Given the description of an element on the screen output the (x, y) to click on. 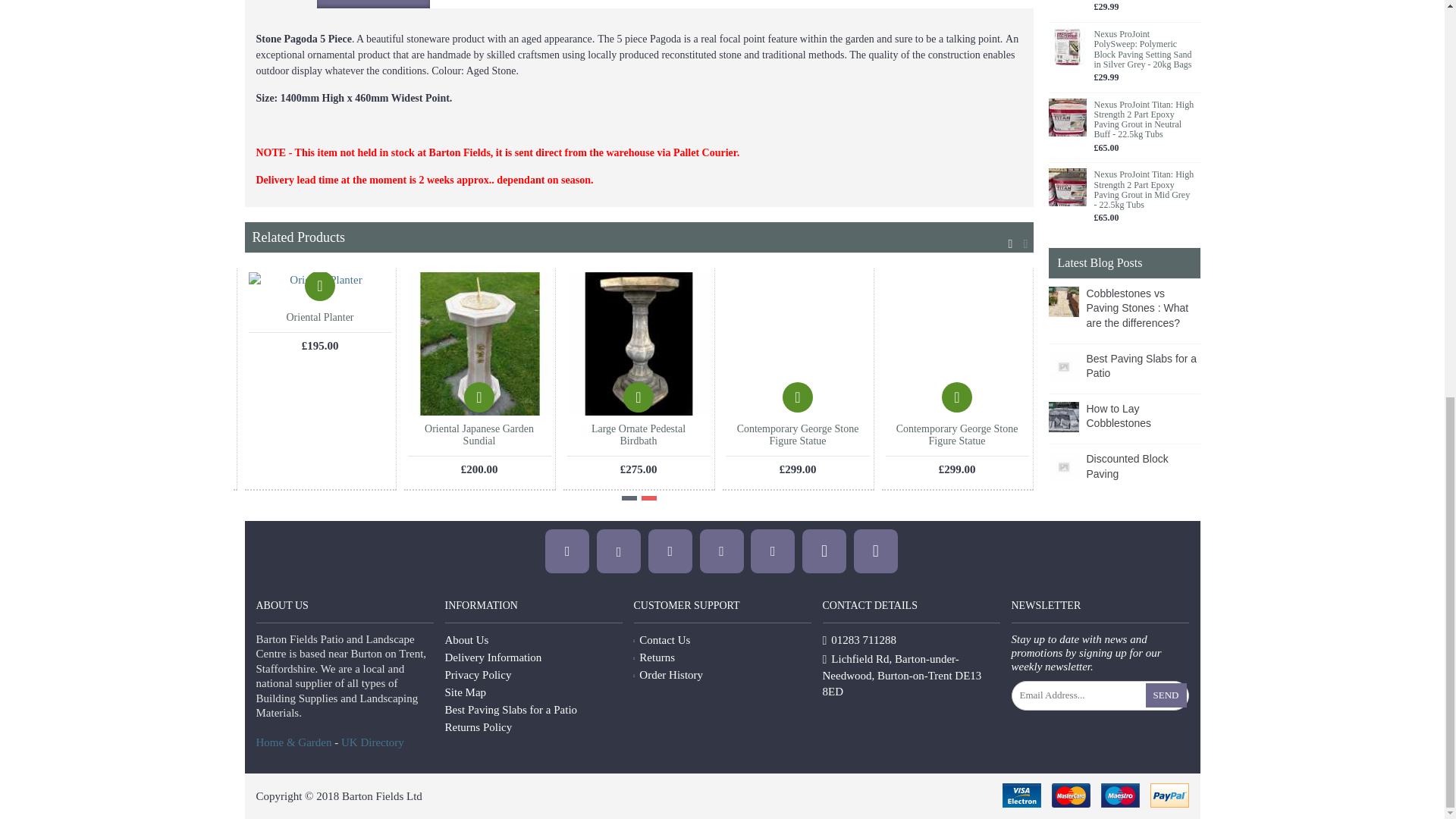
Contemporary George Stone Figure Statue (797, 343)
Contemporary George Stone Figure Statue (957, 343)
Large Ornate Pedestal Birdbath  (638, 343)
Oriental Japanese Garden Sundial (479, 343)
Oriental Planter (319, 287)
